Given the description of an element on the screen output the (x, y) to click on. 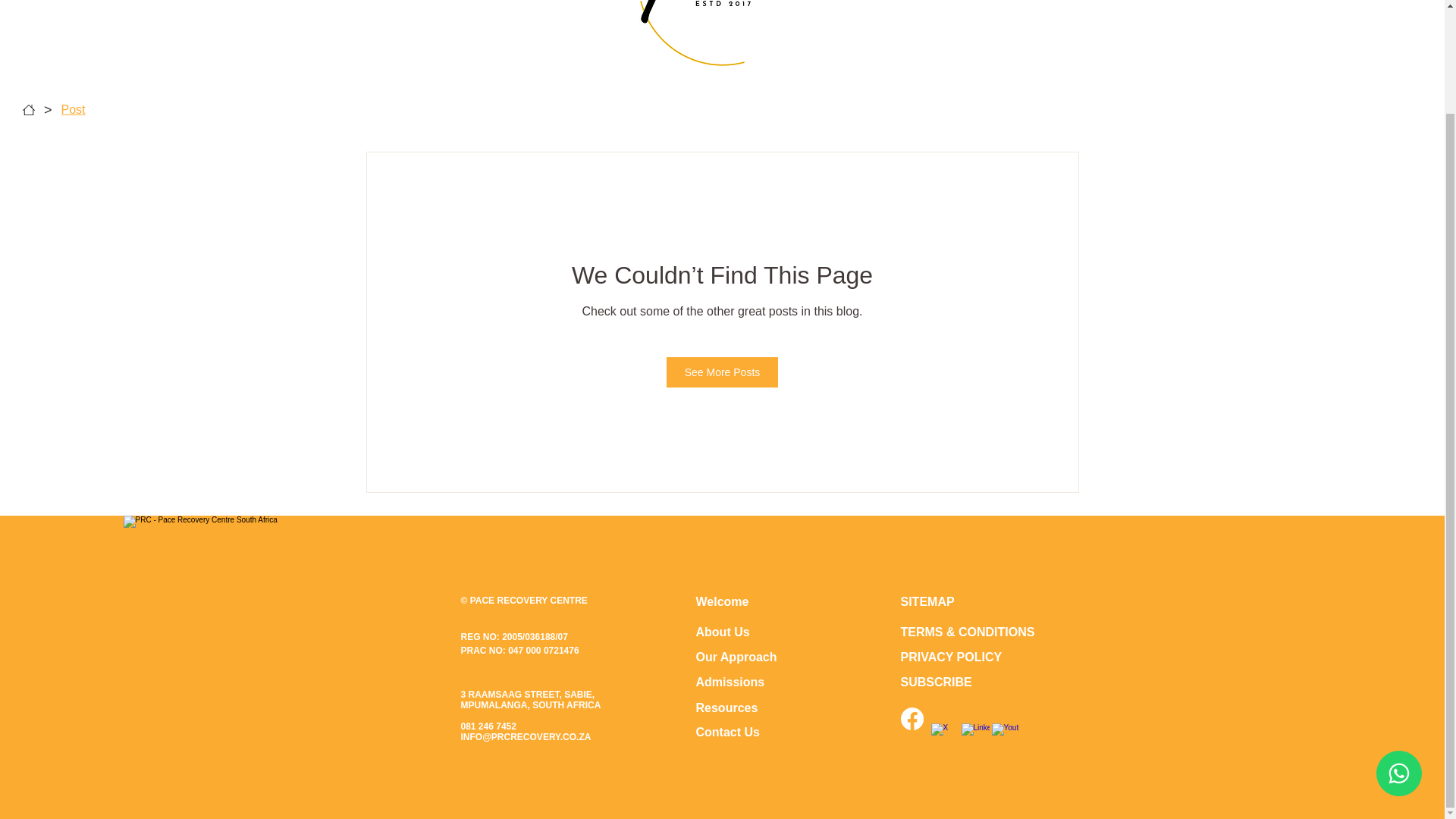
081 246 7452 (488, 726)
All Posts (390, 121)
Our Approach (736, 656)
See More Posts (722, 372)
Resources (726, 707)
About Us (722, 631)
Awareness (480, 121)
Other (752, 121)
Admissions (730, 681)
Blog (556, 121)
